Given the description of an element on the screen output the (x, y) to click on. 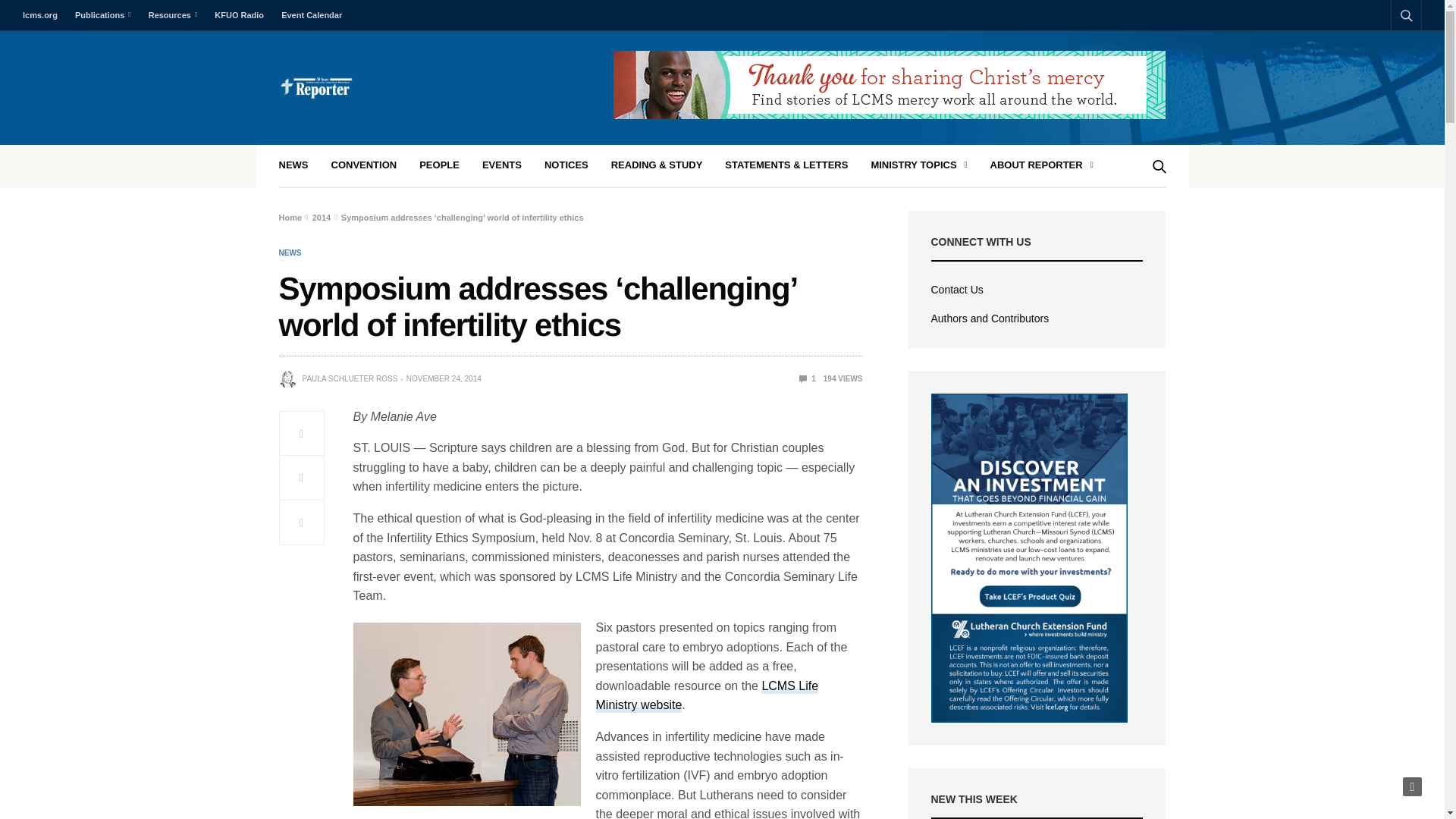
lcms.org (44, 15)
Publications (102, 15)
Posts by Paula Schlueter Ross (349, 378)
News (290, 253)
